Given the description of an element on the screen output the (x, y) to click on. 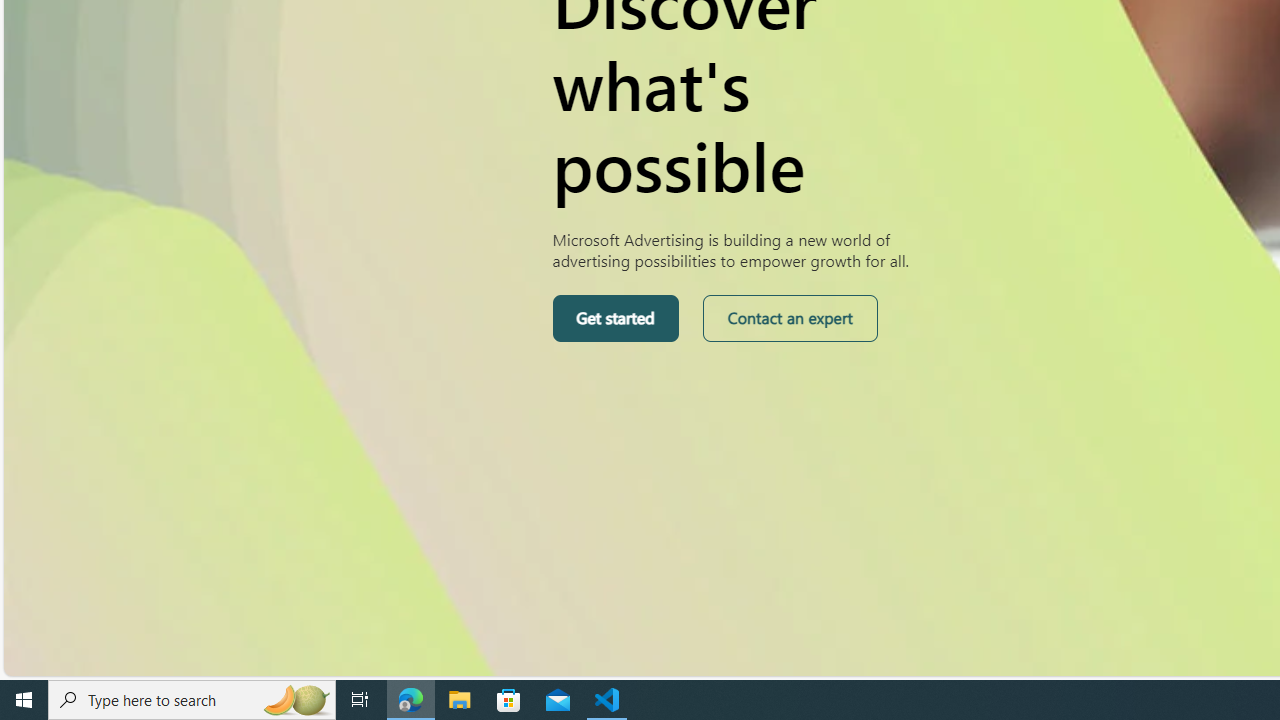
Get started (614, 318)
Contact an expert (789, 318)
